Given the description of an element on the screen output the (x, y) to click on. 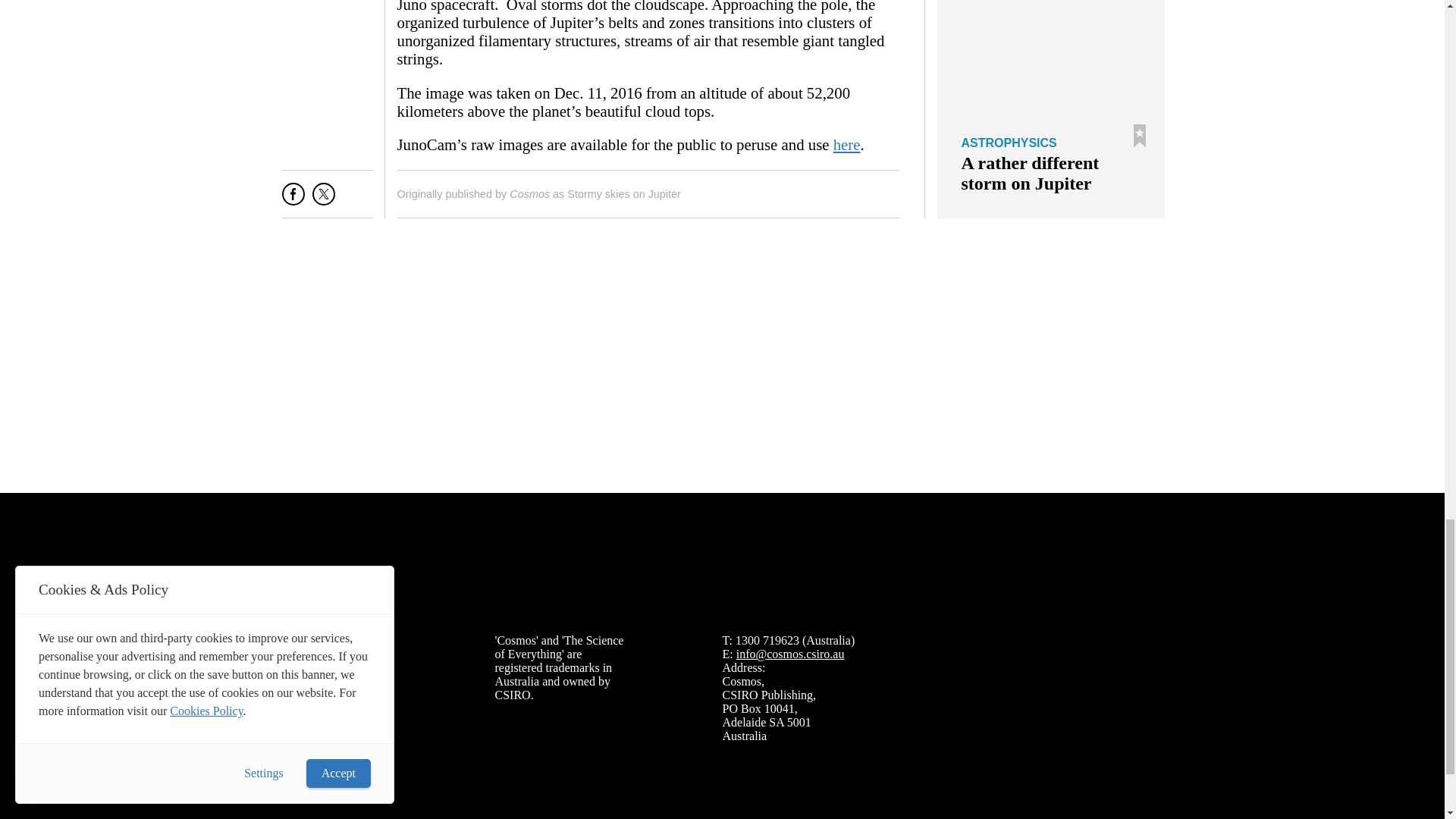
here (846, 144)
Tweet (323, 199)
Share on Facebook (293, 199)
Stormy skies on Jupiter (624, 193)
